Given the description of an element on the screen output the (x, y) to click on. 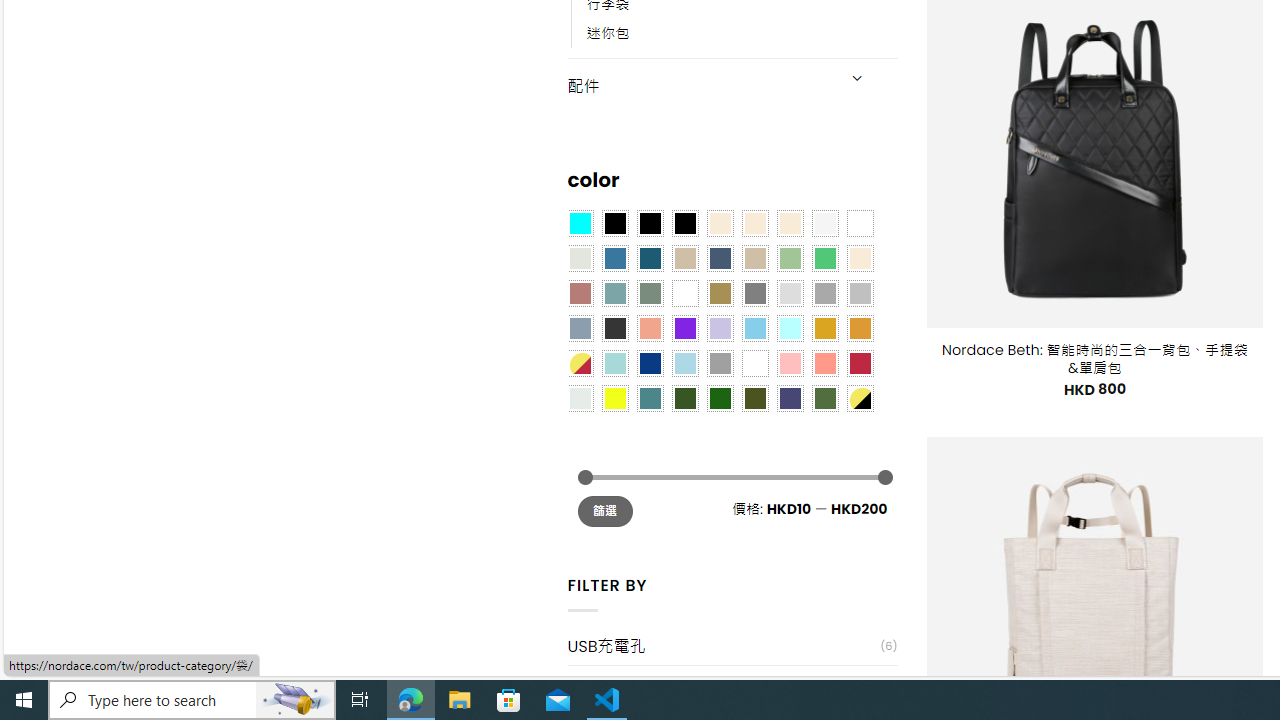
Dull Nickle (579, 398)
